Given the description of an element on the screen output the (x, y) to click on. 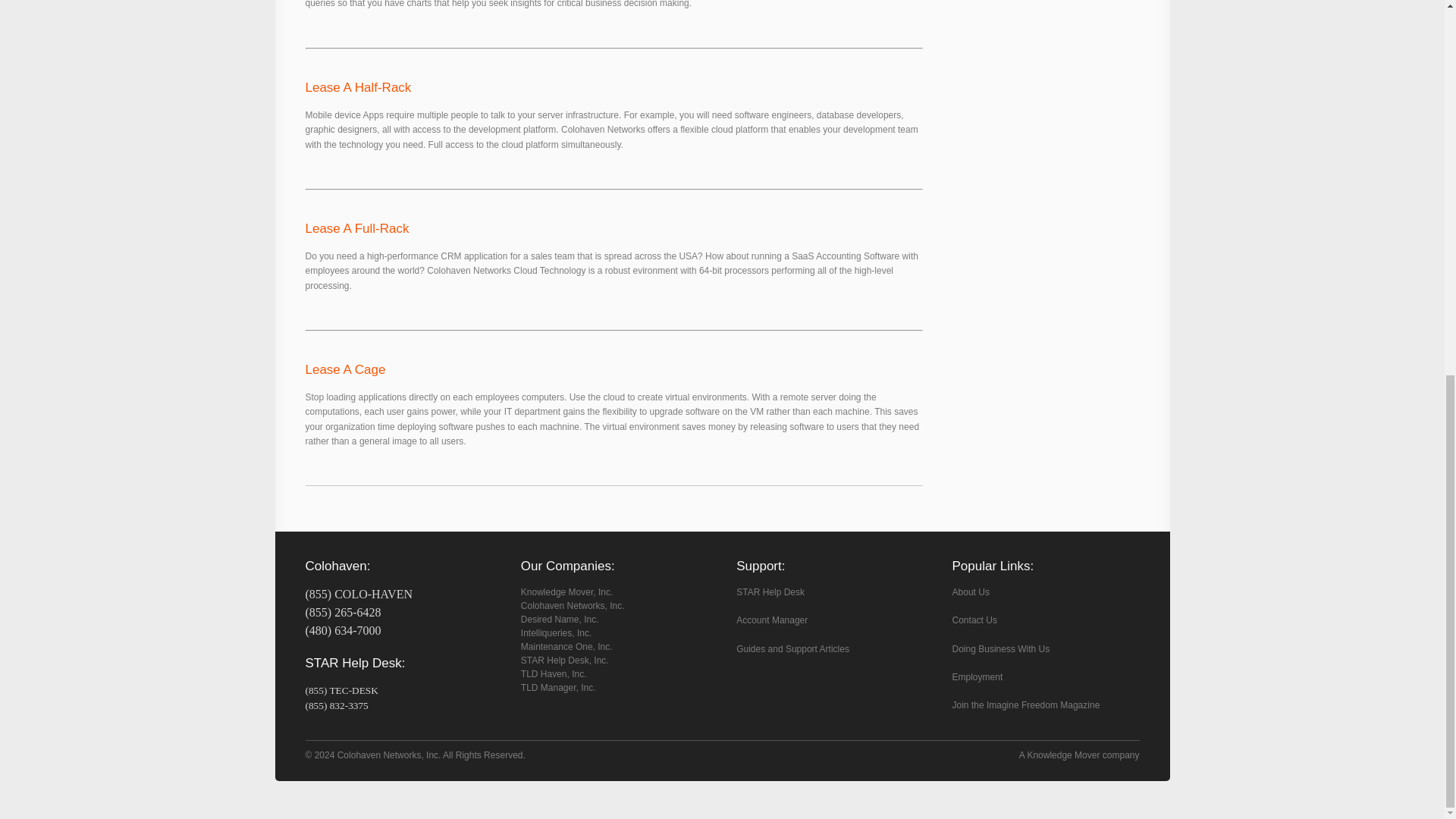
STAR Help Desk (770, 592)
STAR Help Desk, Inc. (564, 660)
Colohaven Networks, Inc. (572, 605)
Join the Imagine Freedom Magazine (1026, 705)
Knowledge Mover, Inc. (566, 592)
Guides and Support Articles (792, 648)
Intelliqueries, Inc. (556, 633)
Knowledge Mover (1062, 755)
Account Manager (772, 620)
Employment (977, 676)
